Given the description of an element on the screen output the (x, y) to click on. 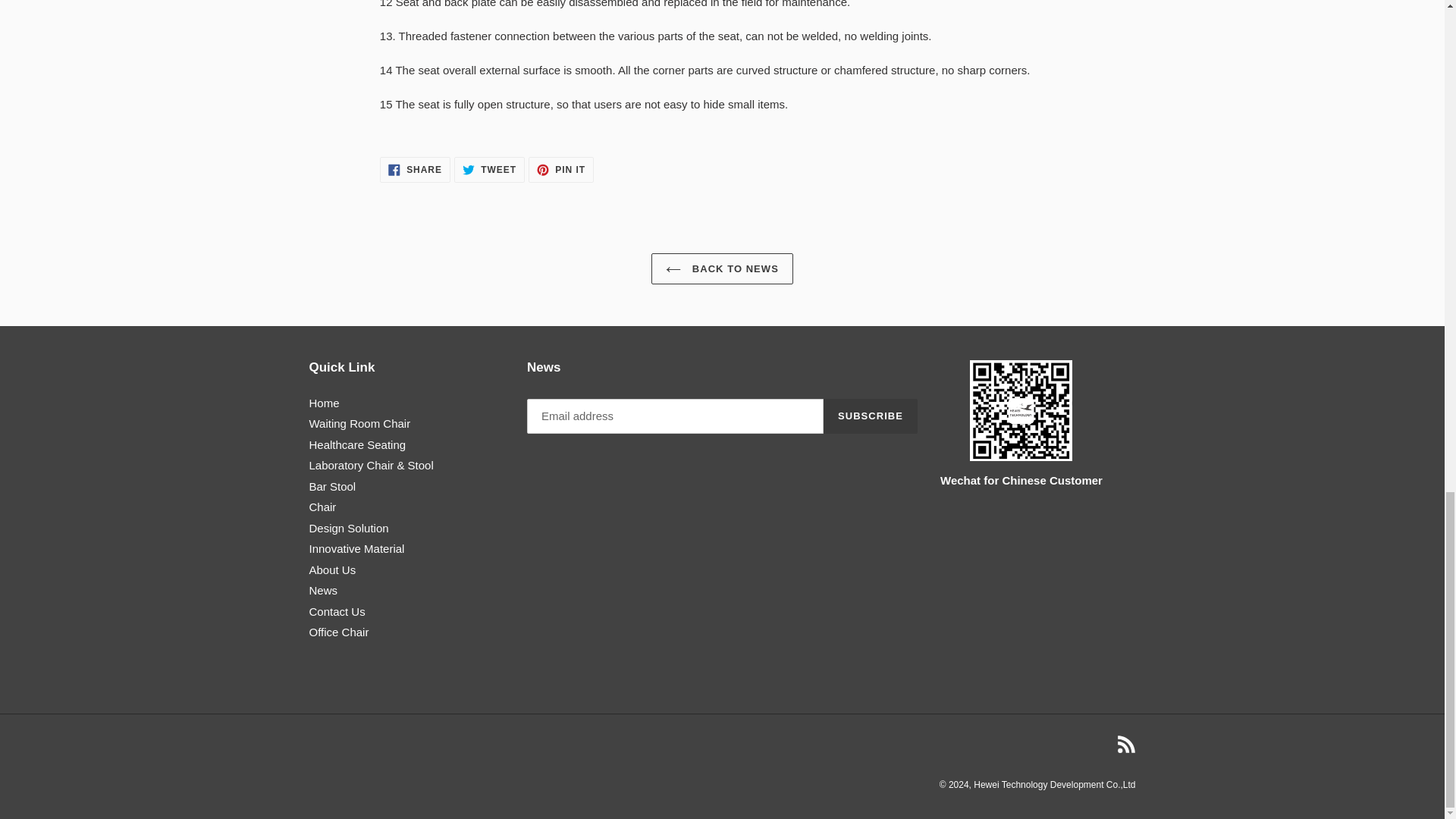
BACK TO NEWS (561, 169)
